Given the description of an element on the screen output the (x, y) to click on. 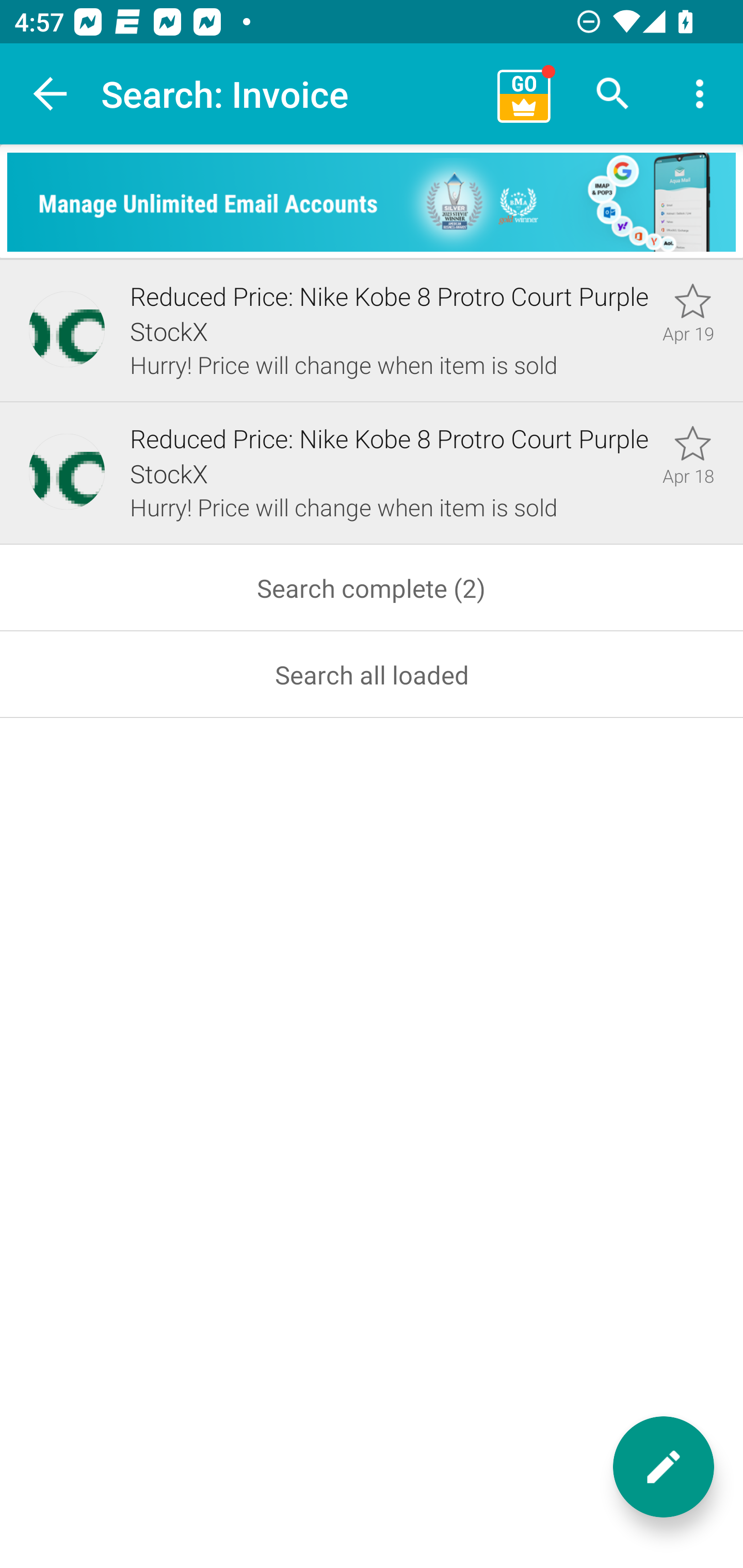
Navigate up (50, 93)
Search (612, 93)
More options (699, 93)
Search complete (2) (371, 587)
Search all loaded (371, 674)
New message (663, 1466)
